Given the description of an element on the screen output the (x, y) to click on. 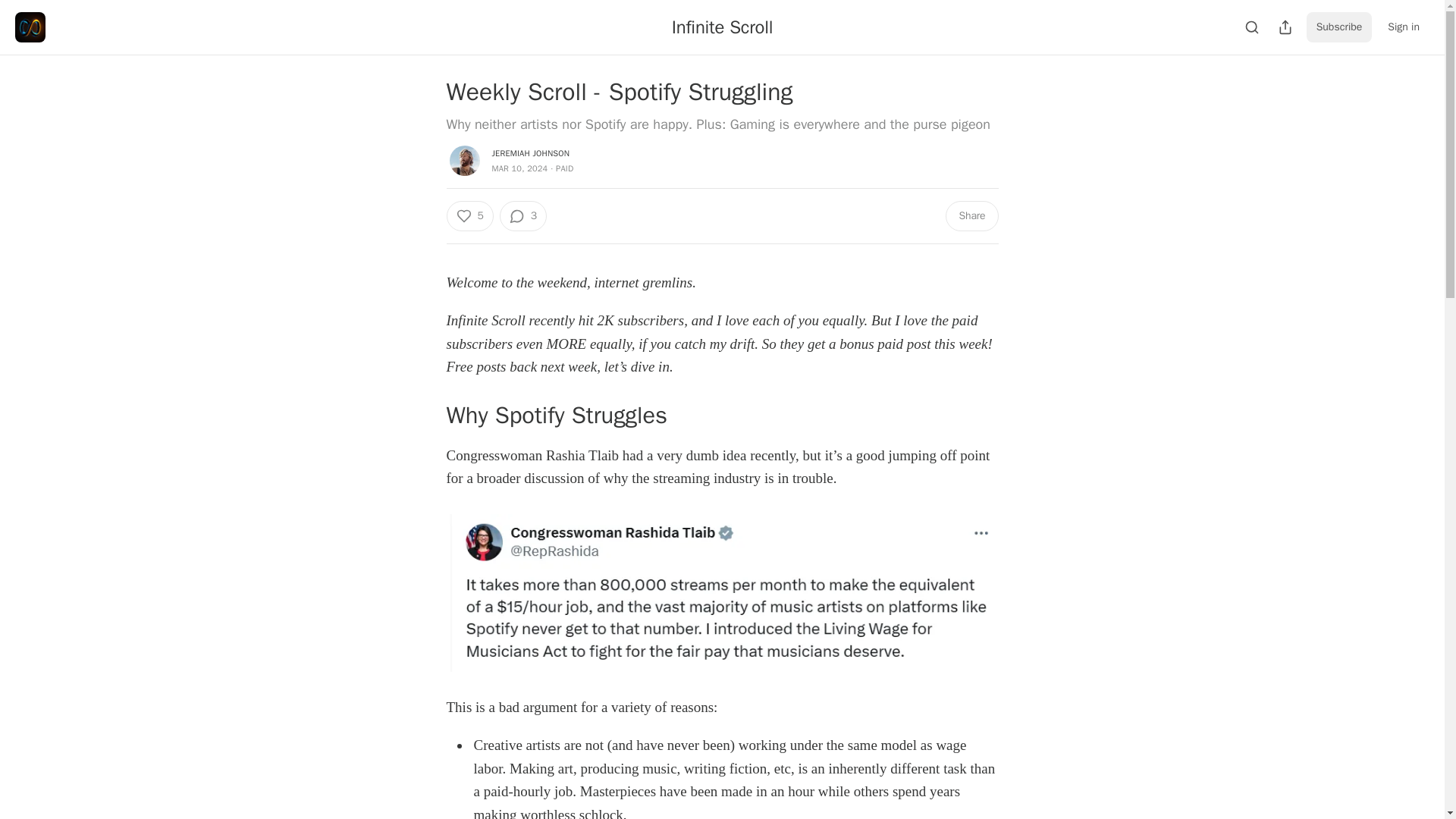
JEREMIAH JOHNSON (530, 153)
5 (469, 215)
Subscribe (1339, 27)
Infinite Scroll (722, 26)
Sign in (1403, 27)
3 (523, 215)
Share (970, 215)
